Given the description of an element on the screen output the (x, y) to click on. 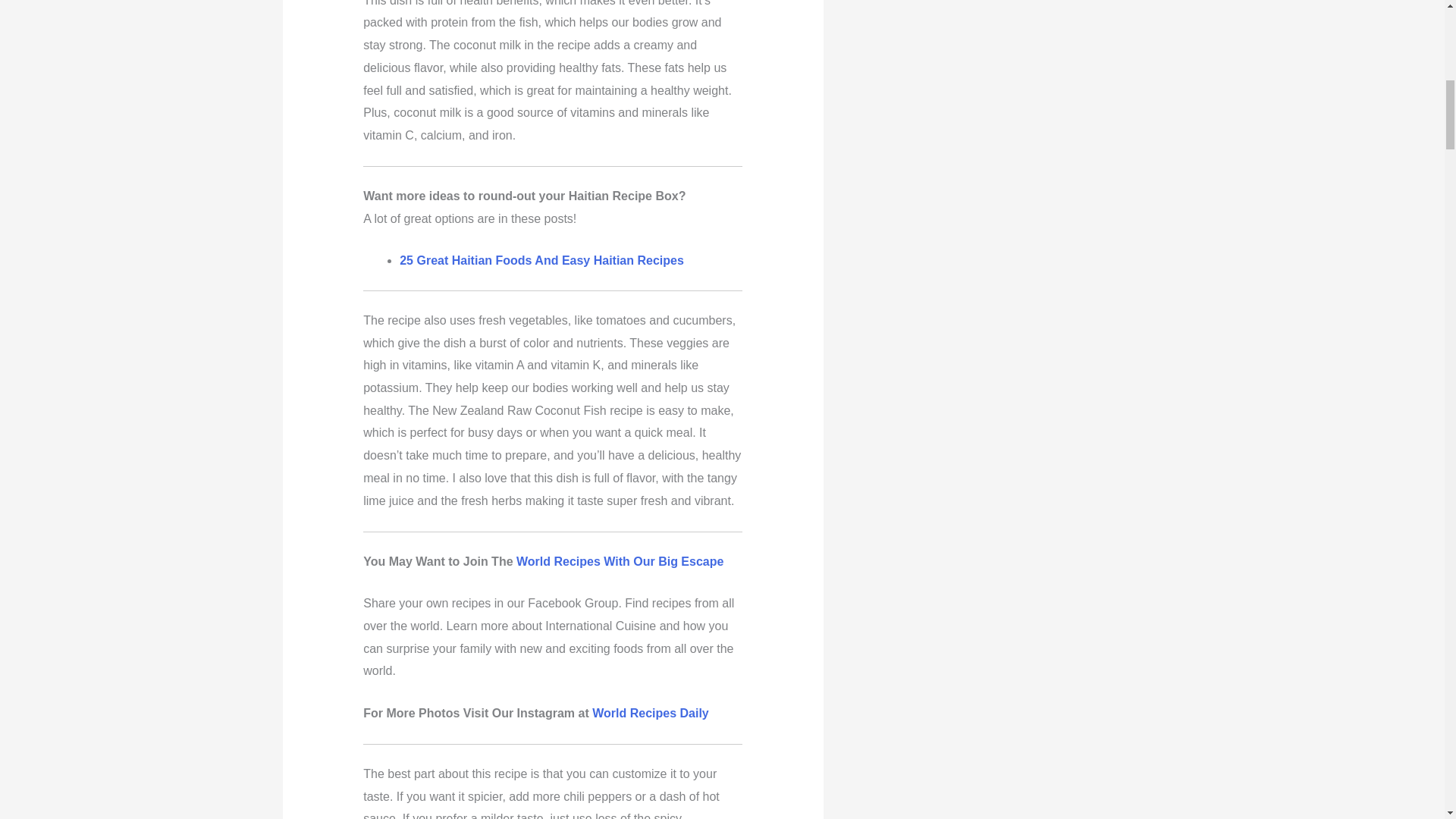
World Recipes With Our Big Escape (619, 561)
World Recipes Daily (650, 712)
25 Great Haitian Foods And Easy Haitian Recipes (541, 259)
